Given the description of an element on the screen output the (x, y) to click on. 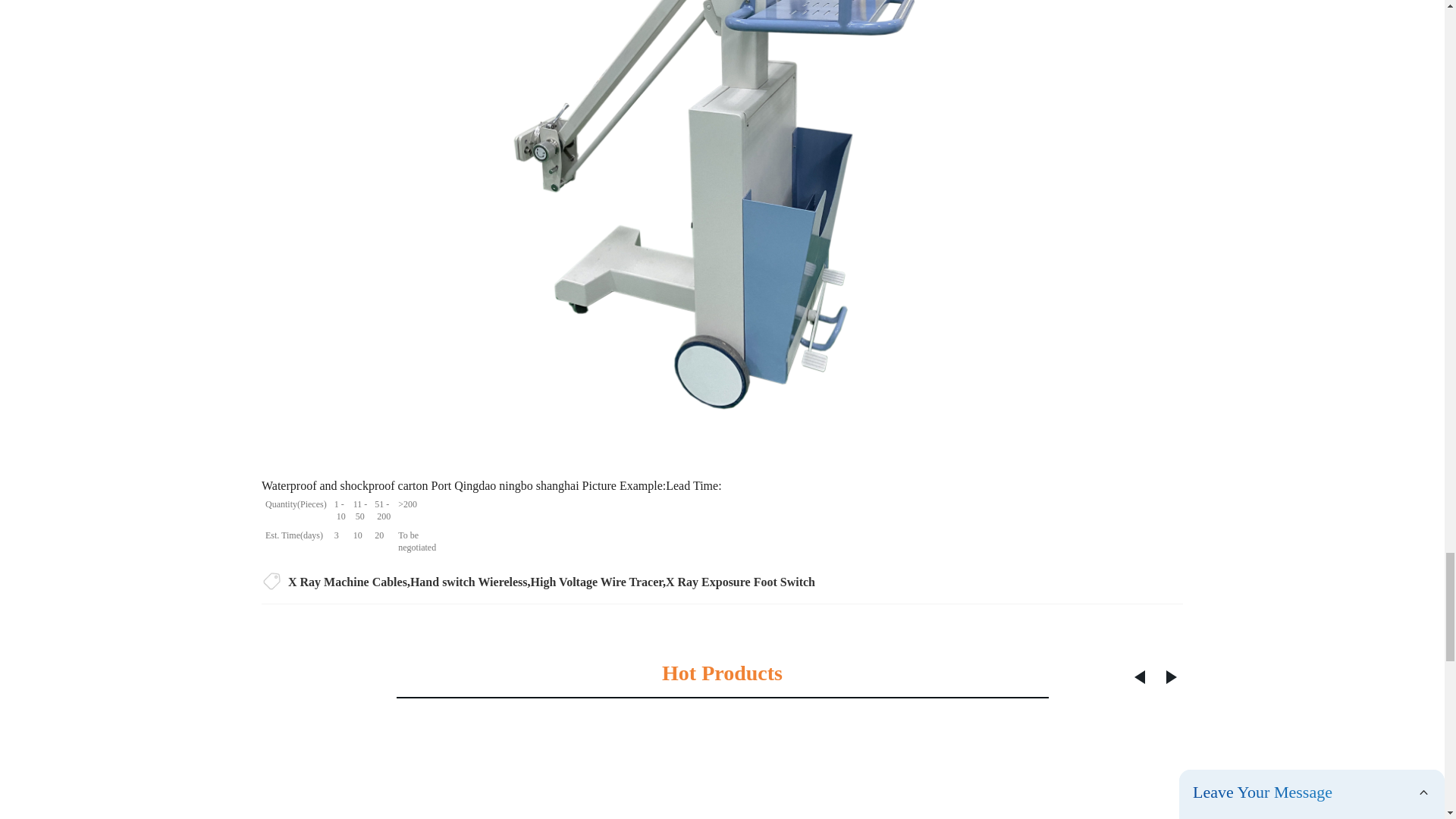
X Ray Machine Cables (347, 581)
X Ray Exposure Foot Switch (740, 581)
High Voltage Wire Tracer (596, 581)
Hand switch Wiereless (468, 581)
